Given the description of an element on the screen output the (x, y) to click on. 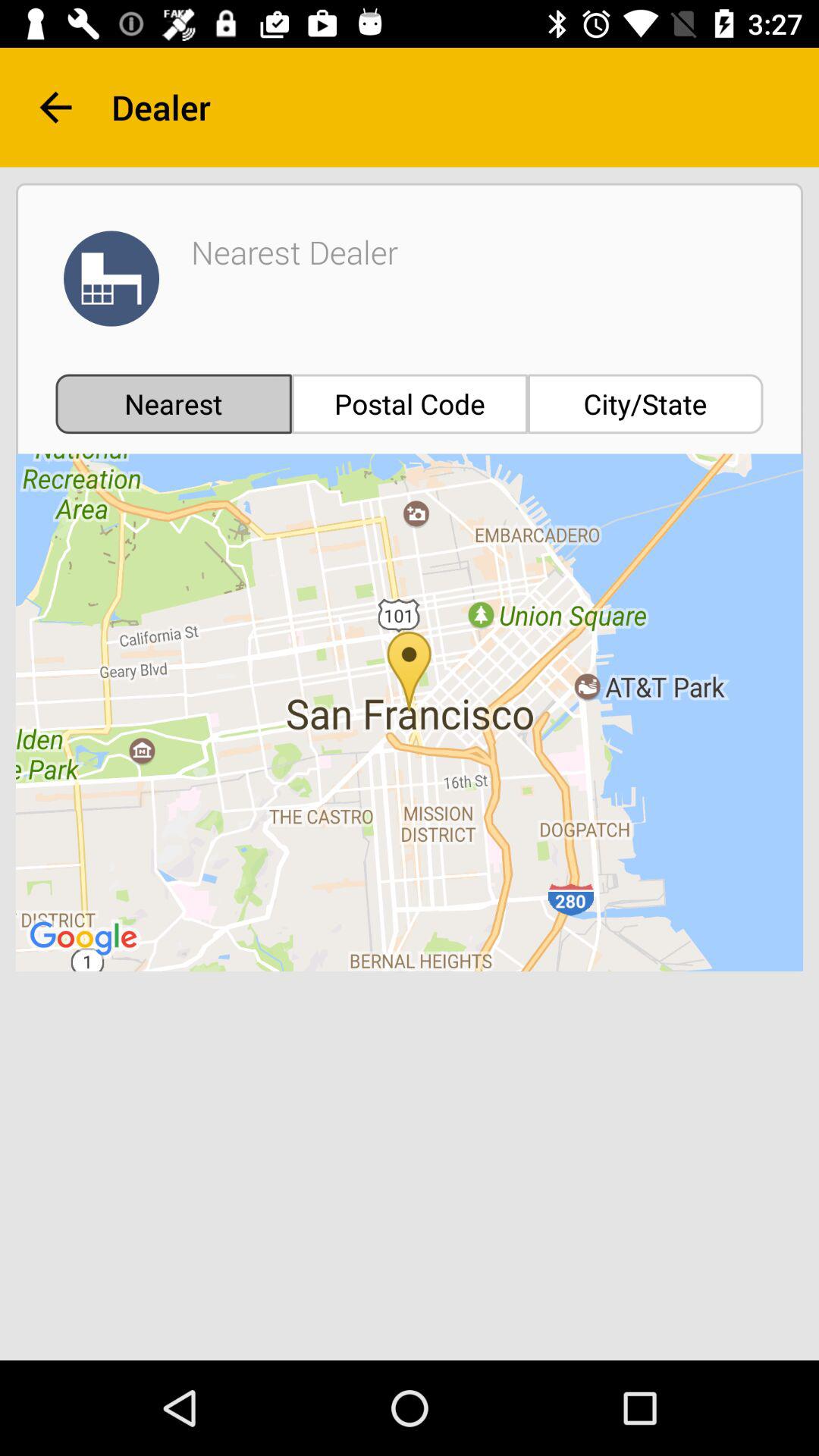
select the city/state icon (645, 403)
